Given the description of an element on the screen output the (x, y) to click on. 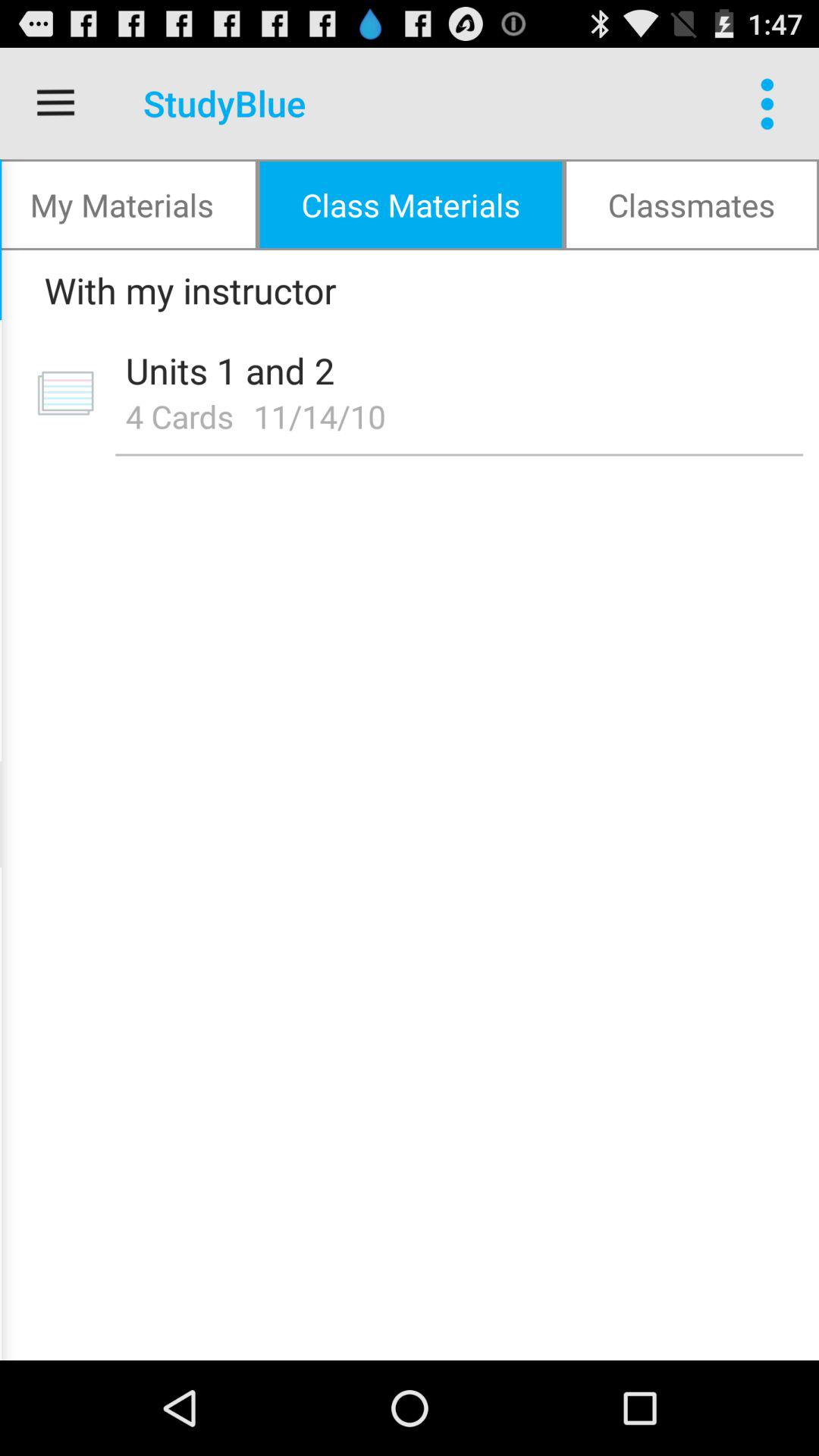
launch item below the 4 cards (459, 454)
